Given the description of an element on the screen output the (x, y) to click on. 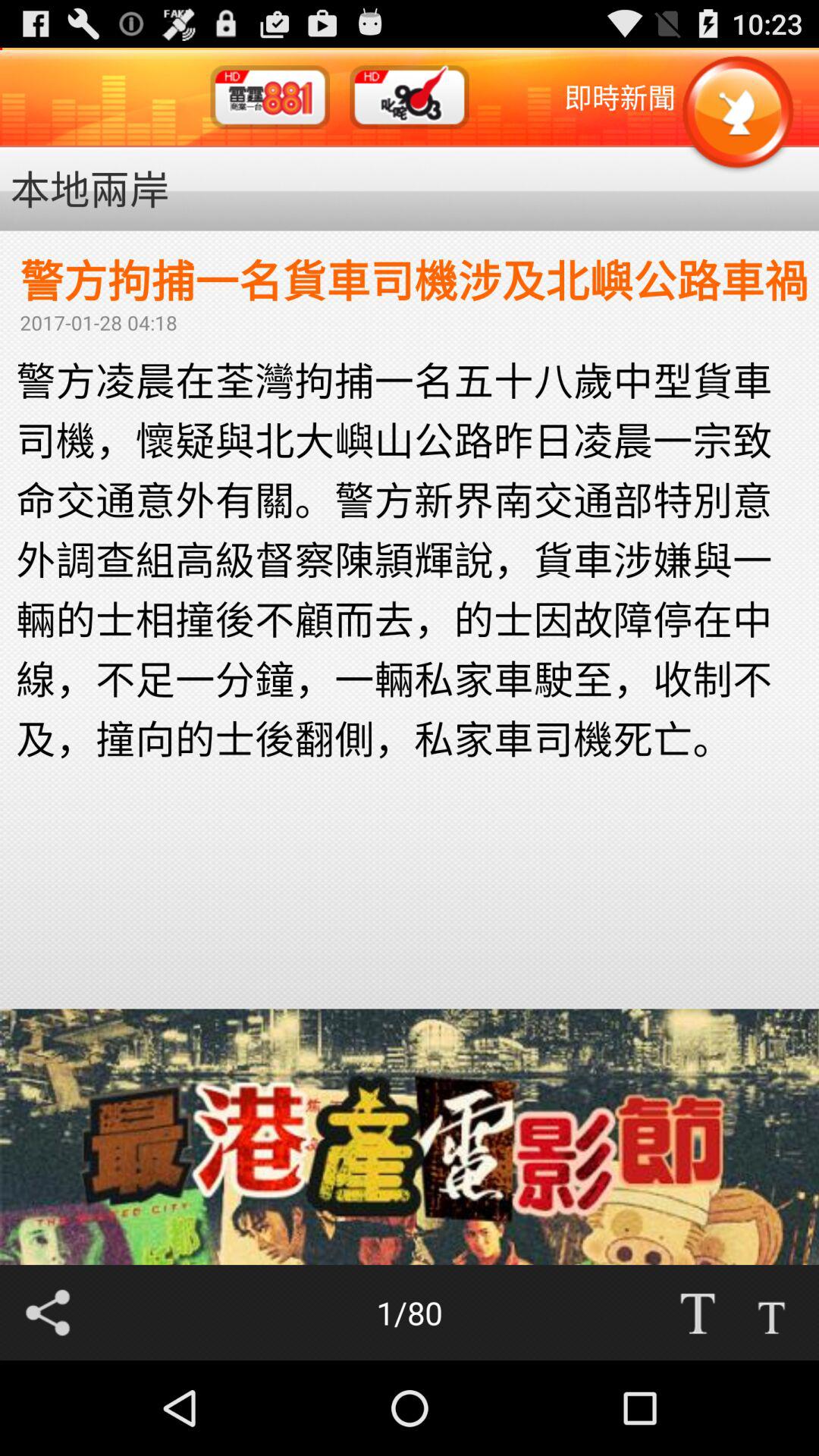
toggle selection (771, 1312)
